Given the description of an element on the screen output the (x, y) to click on. 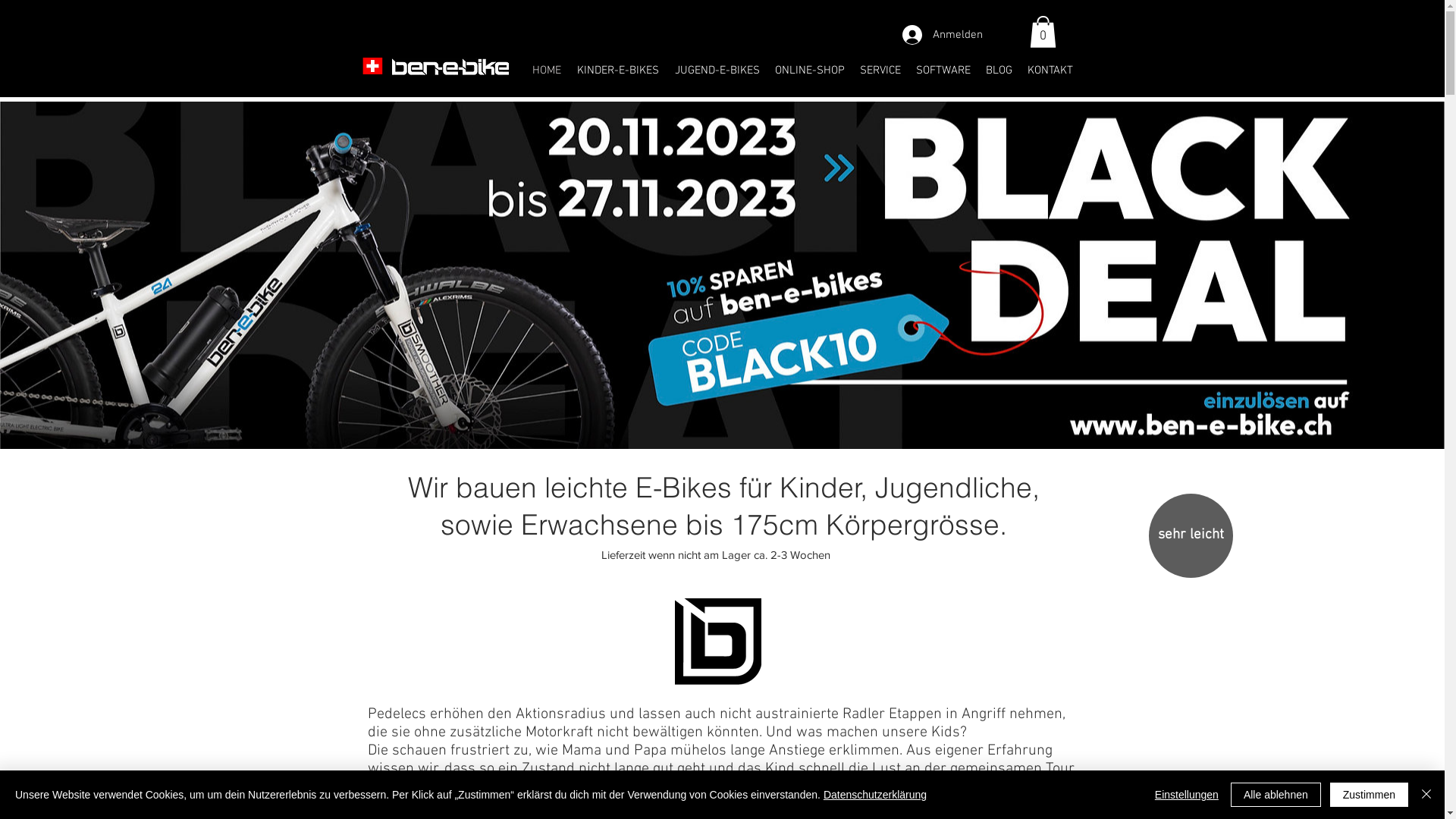
Anmelden Element type: text (942, 34)
KONTAKT Element type: text (1049, 70)
sehr leicht Element type: text (1190, 535)
ONLINE-SHOP Element type: text (809, 70)
Alle ablehnen Element type: text (1275, 794)
SERVICE Element type: text (880, 70)
0 Element type: text (1042, 31)
SOFTWARE Element type: text (943, 70)
KINDER-E-BIKES Element type: text (617, 70)
BLOG Element type: text (998, 70)
HOME Element type: text (546, 70)
JUGEND-E-BIKES Element type: text (717, 70)
Zustimmen Element type: text (1369, 794)
